Given the description of an element on the screen output the (x, y) to click on. 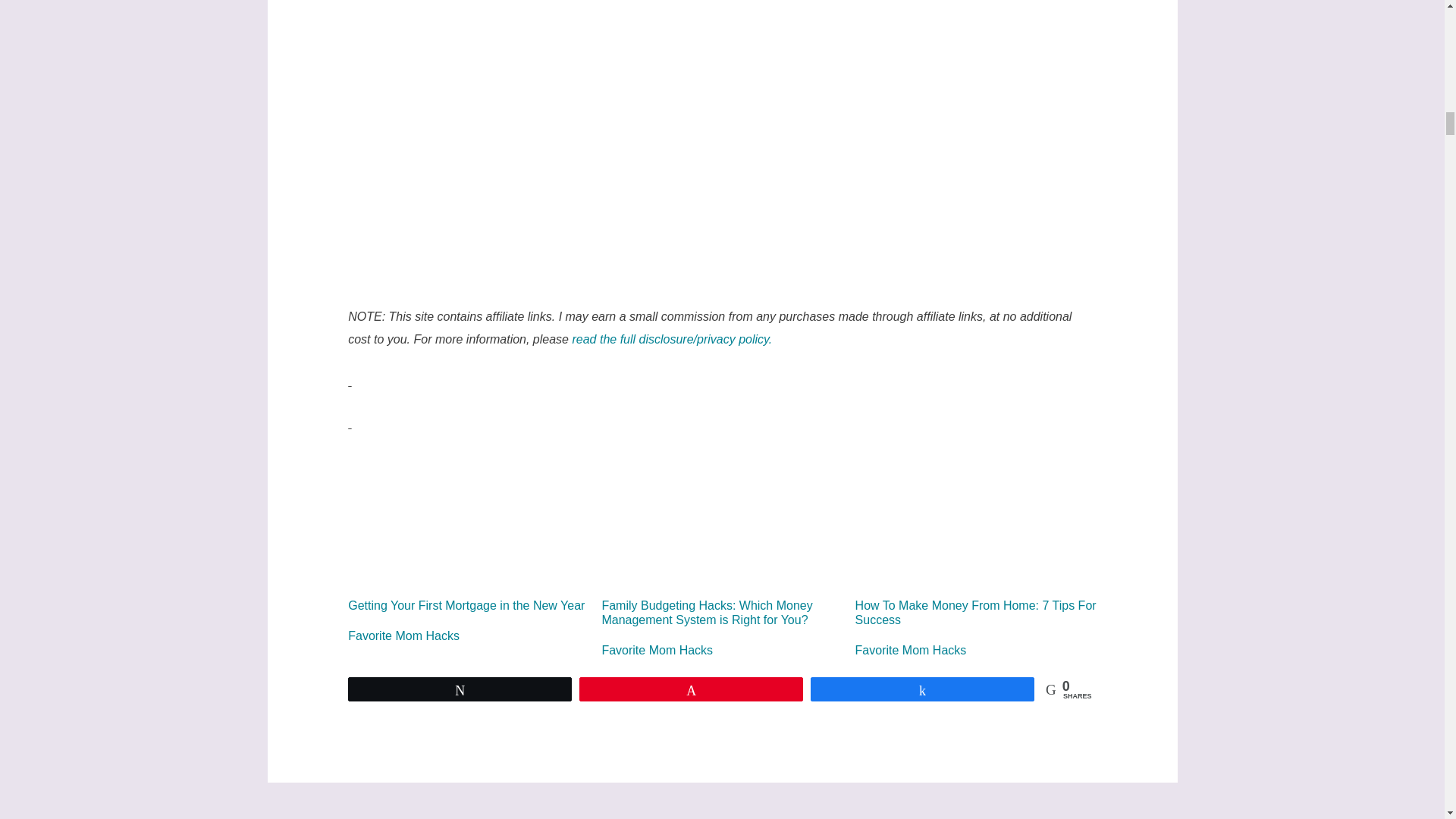
How To Make Money From Home: 7 Tips For Success (976, 540)
Getting Your First Mortgage in the New Year (468, 533)
Favorite Mom Hacks (657, 649)
Favorite Mom Hacks (403, 635)
